Given the description of an element on the screen output the (x, y) to click on. 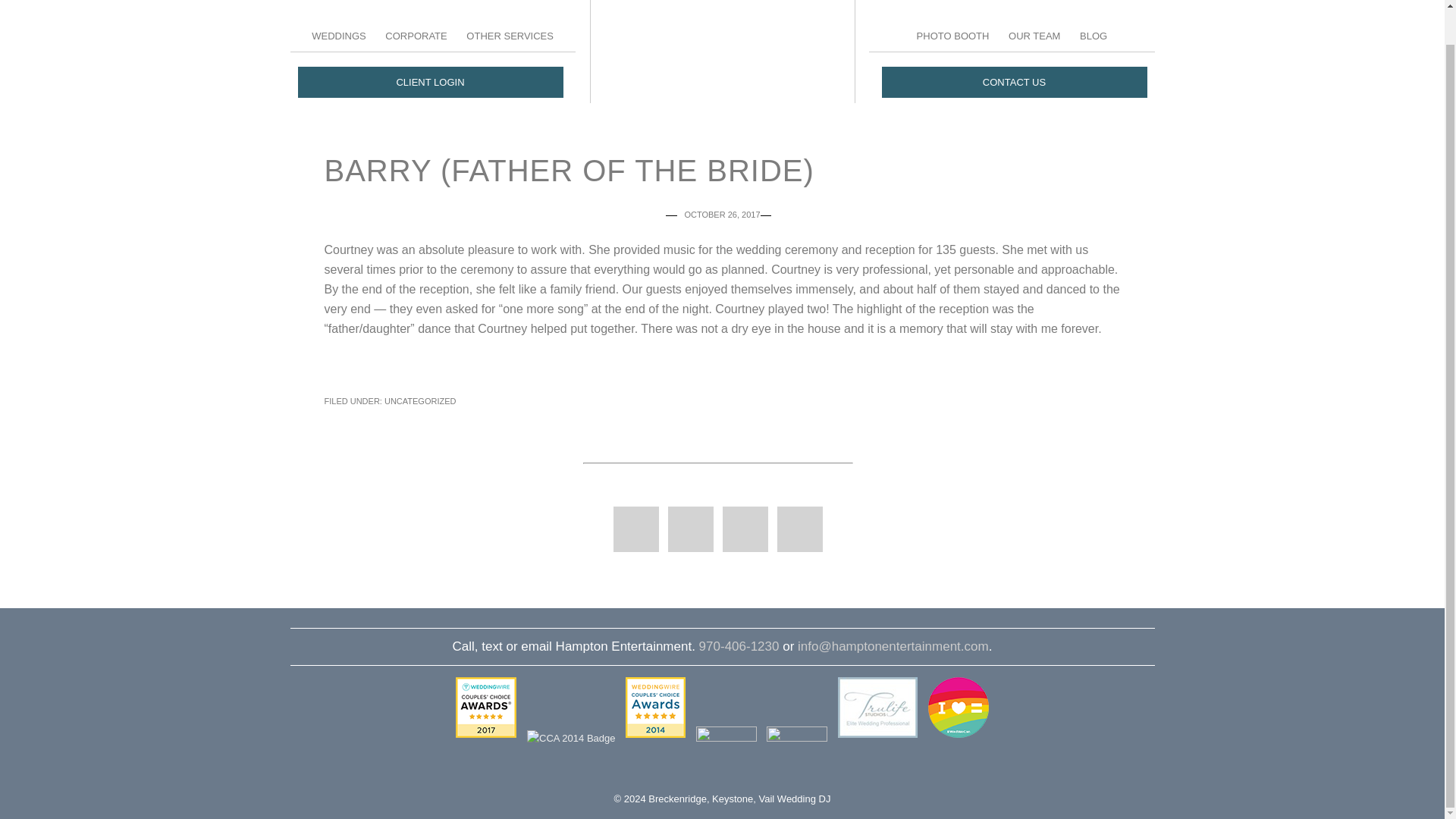
trulifebadge109 (877, 707)
CORPORATE (415, 34)
WEDDINGS (338, 34)
OTHER SERVICES (510, 34)
OUR TEAM (1034, 34)
CLIENT LOGIN (429, 81)
BRECKENRIDGE, KEYSTONE, VAIL WEDDING DJ (721, 40)
LoveStoryLogo (726, 756)
970-406-1230 (738, 646)
CONTACT US (1013, 81)
